Given the description of an element on the screen output the (x, y) to click on. 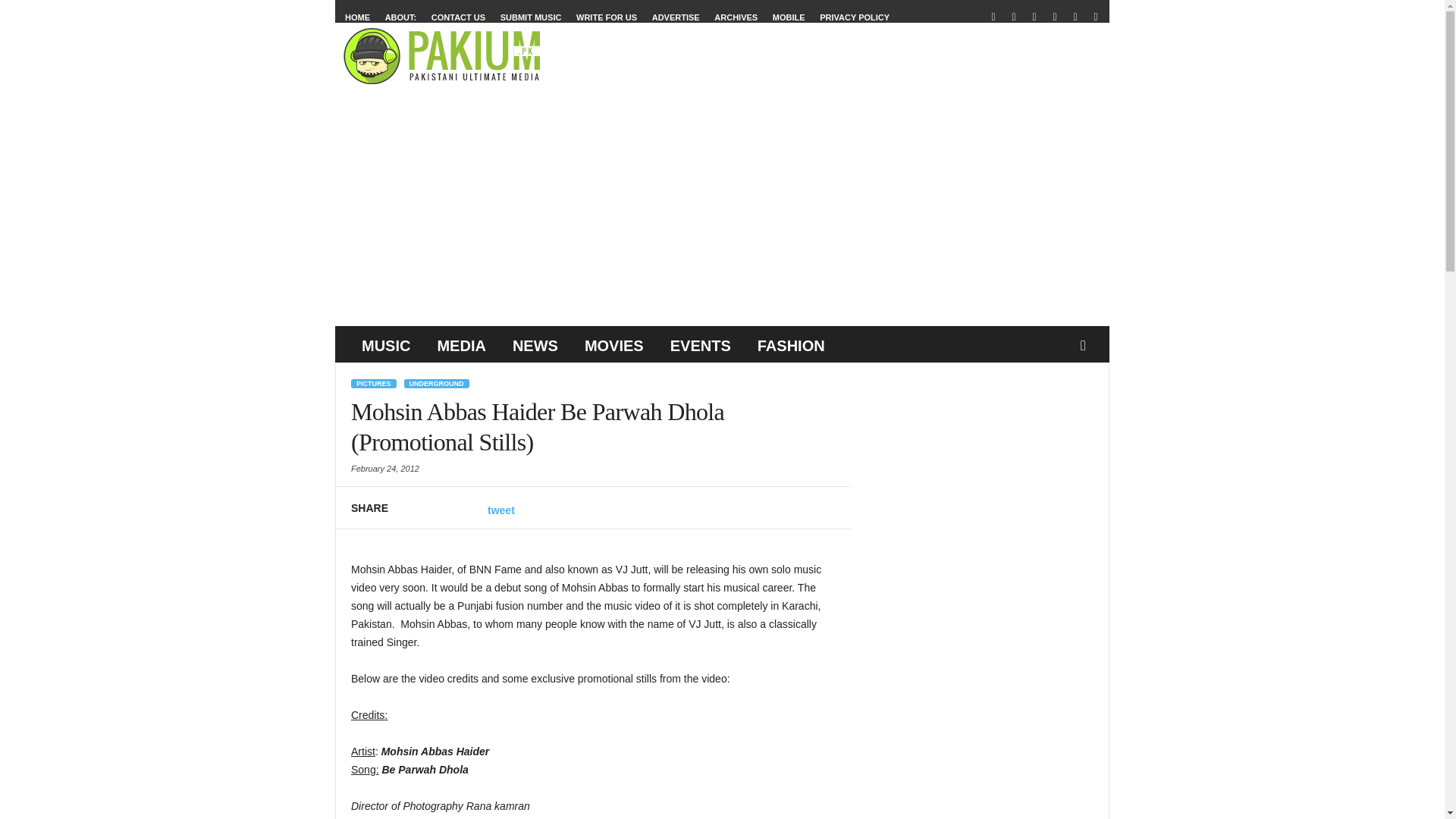
Facebook (993, 17)
ADVERTISE (676, 17)
Soundcloud (1054, 17)
MOBILE (789, 17)
Pakistani Ultimate Media (443, 56)
ABOUT: (400, 17)
Youtube (1095, 17)
WRITE FOR US (606, 17)
ARCHIVES (735, 17)
Guest Post (606, 17)
